Given the description of an element on the screen output the (x, y) to click on. 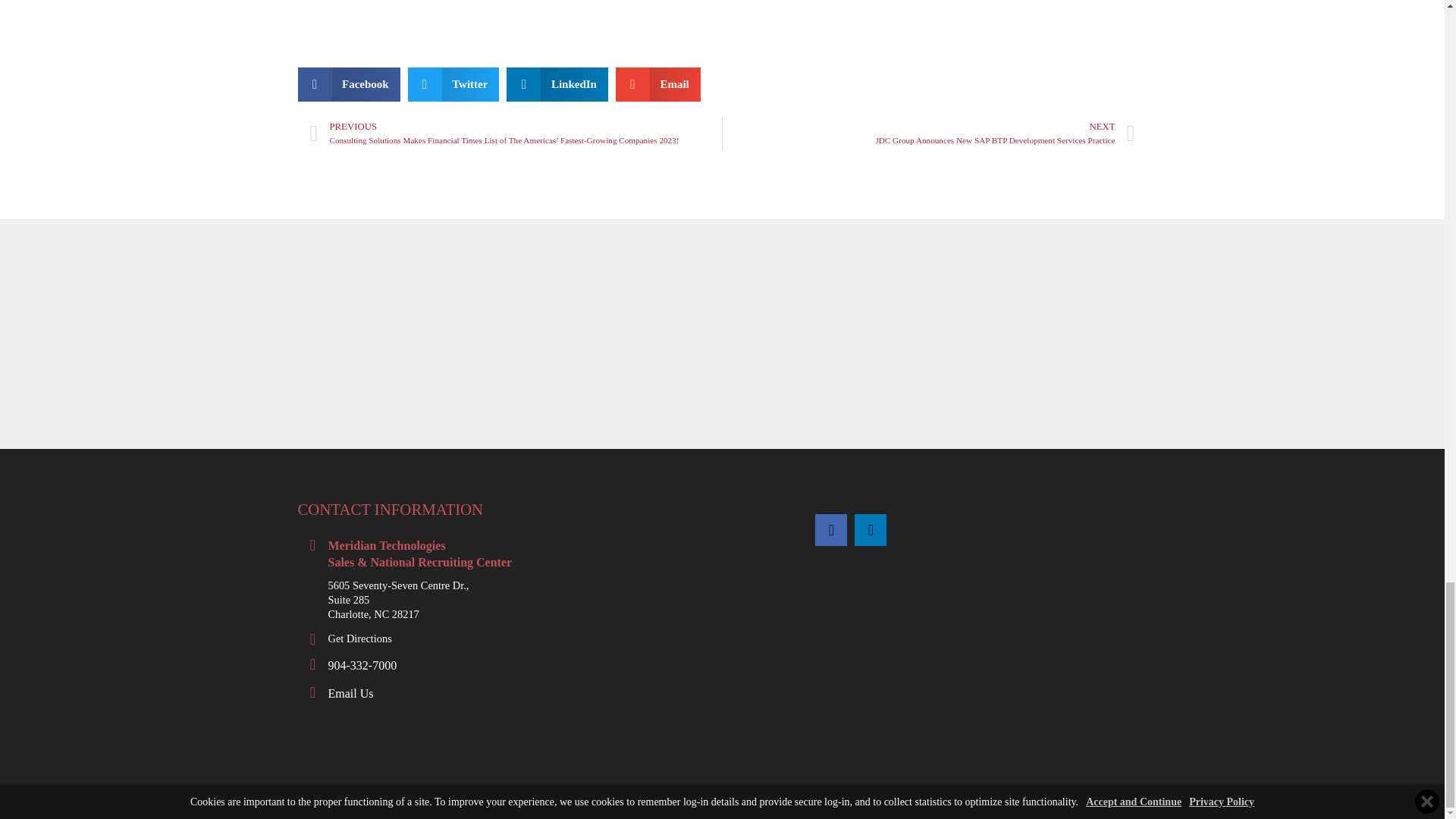
Connect with Meridian Technologies on LinkedIn (870, 530)
Follow Meridian Technologies on Facebook (831, 530)
